Given the description of an element on the screen output the (x, y) to click on. 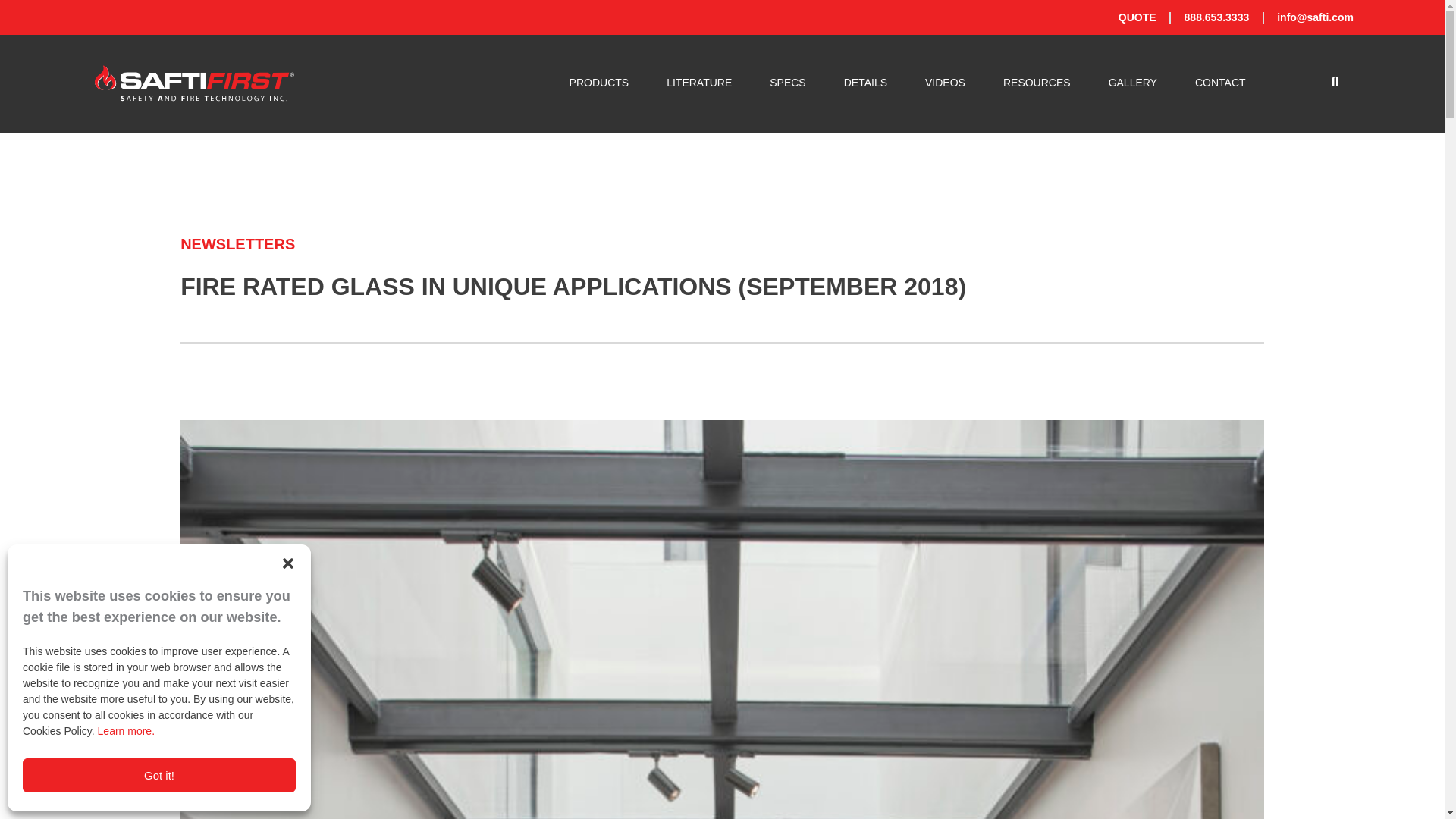
Got it! (159, 775)
PRODUCTS (599, 83)
Learn more. (125, 730)
QUOTE (1137, 17)
888.653.3333 (1217, 17)
